Given the description of an element on the screen output the (x, y) to click on. 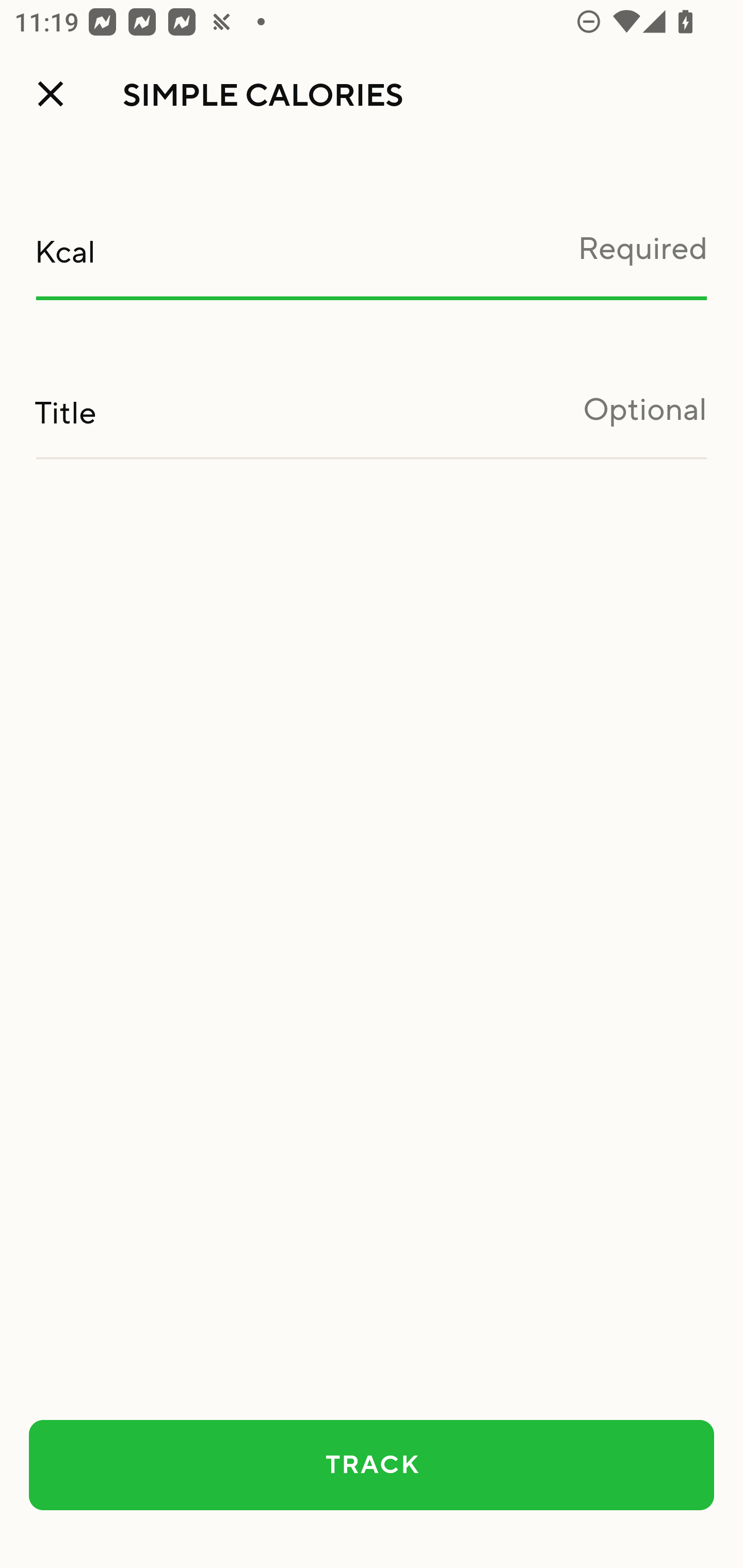
Required (371, 259)
Optional (371, 420)
TRACK (371, 1464)
